Given the description of an element on the screen output the (x, y) to click on. 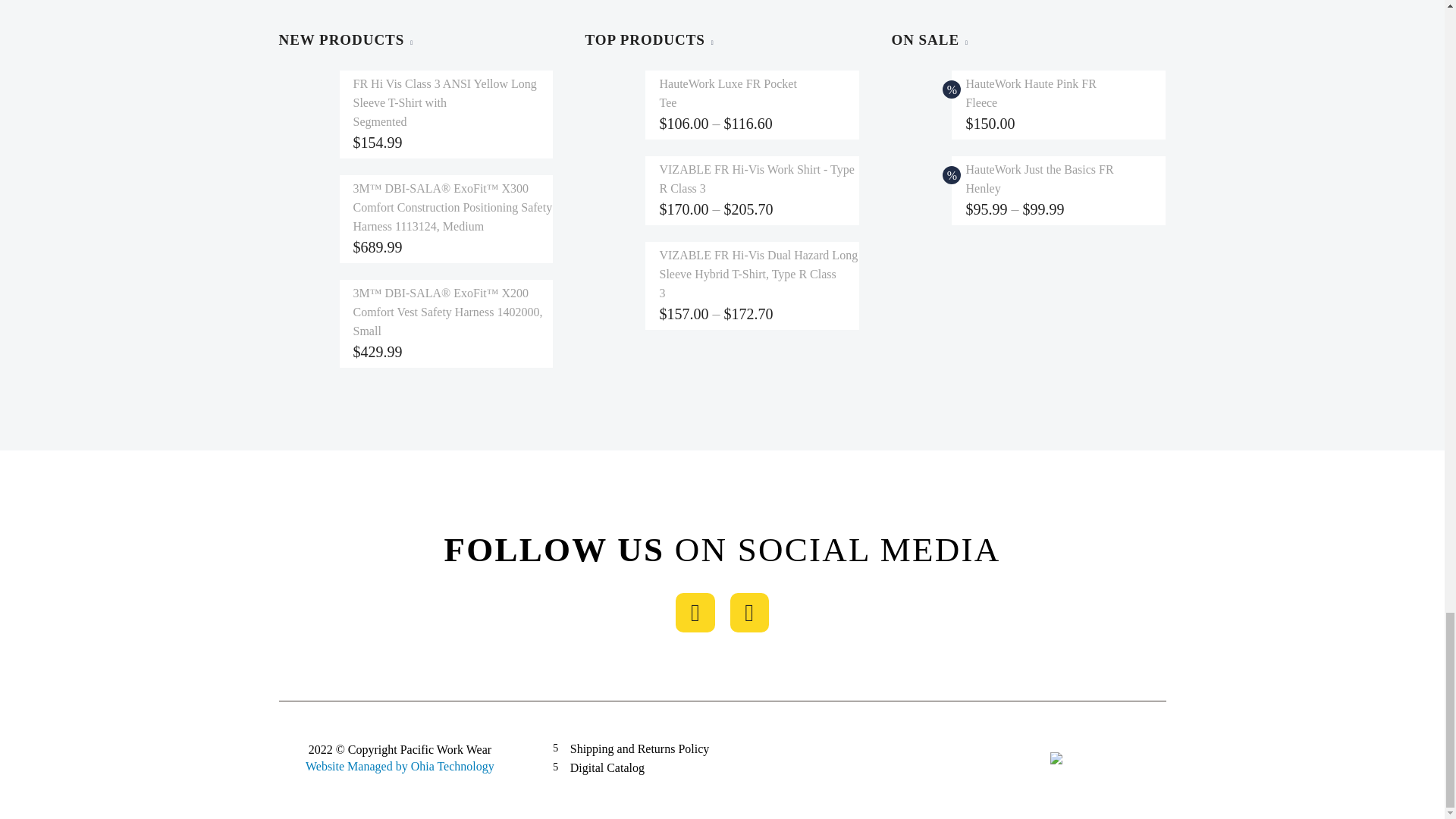
HauteWork Luxe FR Pocket Tee (727, 92)
HauteWork Haute Pink FR Fleece (1030, 92)
HauteWork Just the Basics FR Henley (1039, 178)
VIZABLE FR Hi-Vis Work Shirt - Type R Class 3 (756, 178)
